Given the description of an element on the screen output the (x, y) to click on. 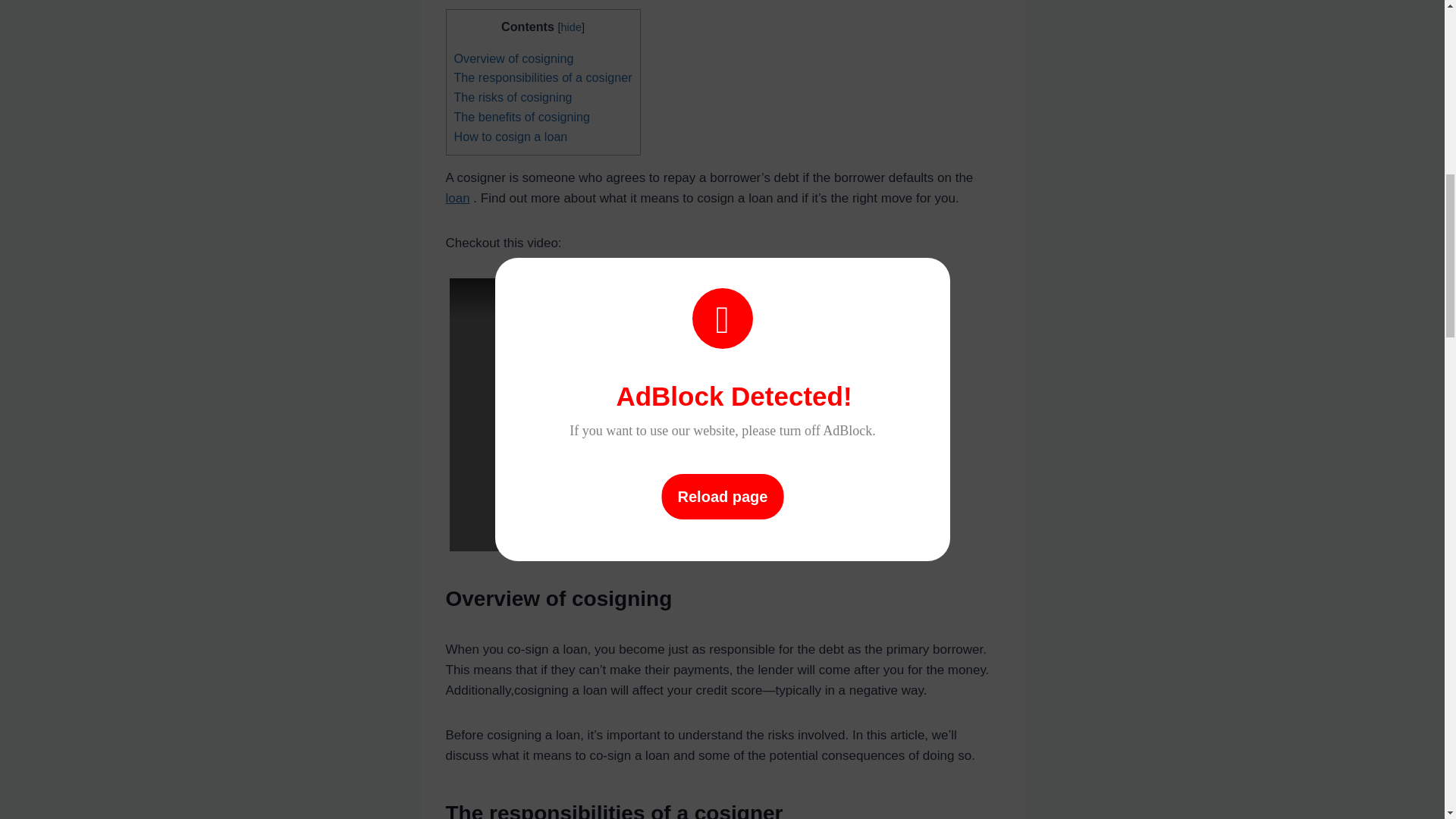
The responsibilities of a cosigner (541, 77)
hide (570, 27)
How to cosign a loan (509, 136)
The benefits of cosigning (520, 116)
Overview of cosigning (512, 58)
The risks of cosigning (512, 97)
loan (457, 197)
